Given the description of an element on the screen output the (x, y) to click on. 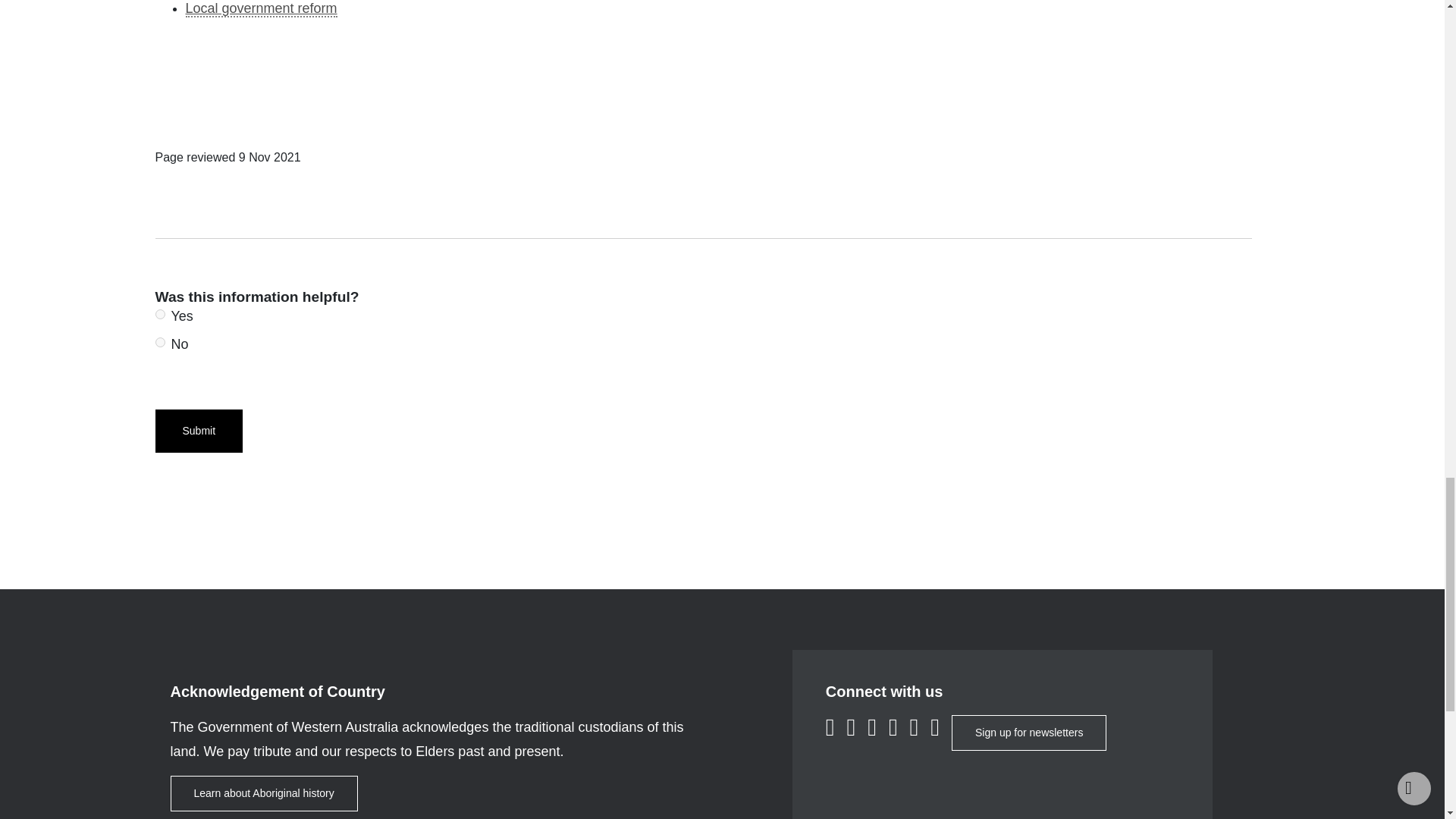
Yes (159, 314)
No (159, 342)
